Given the description of an element on the screen output the (x, y) to click on. 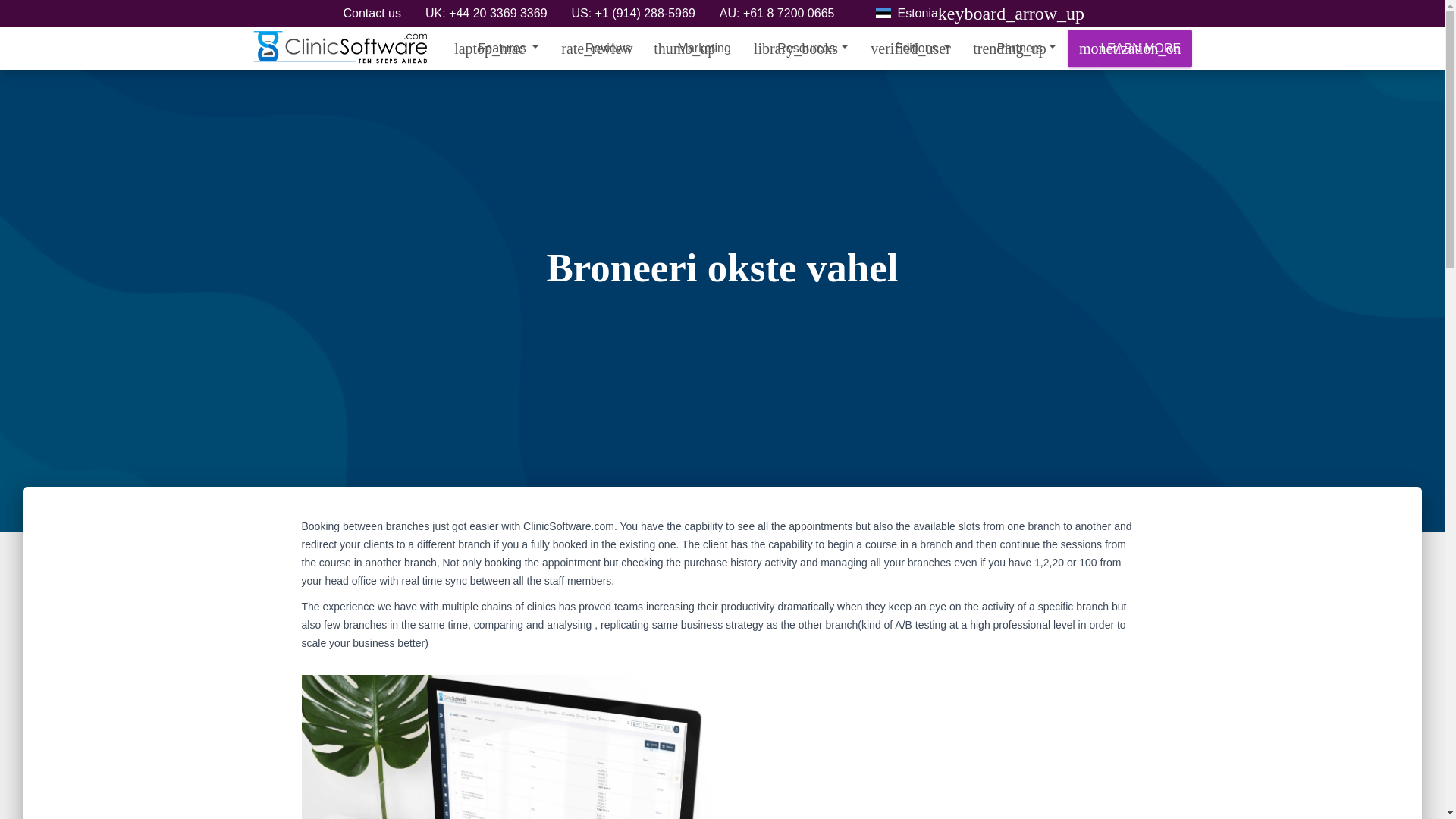
Contact us (371, 14)
